Given the description of an element on the screen output the (x, y) to click on. 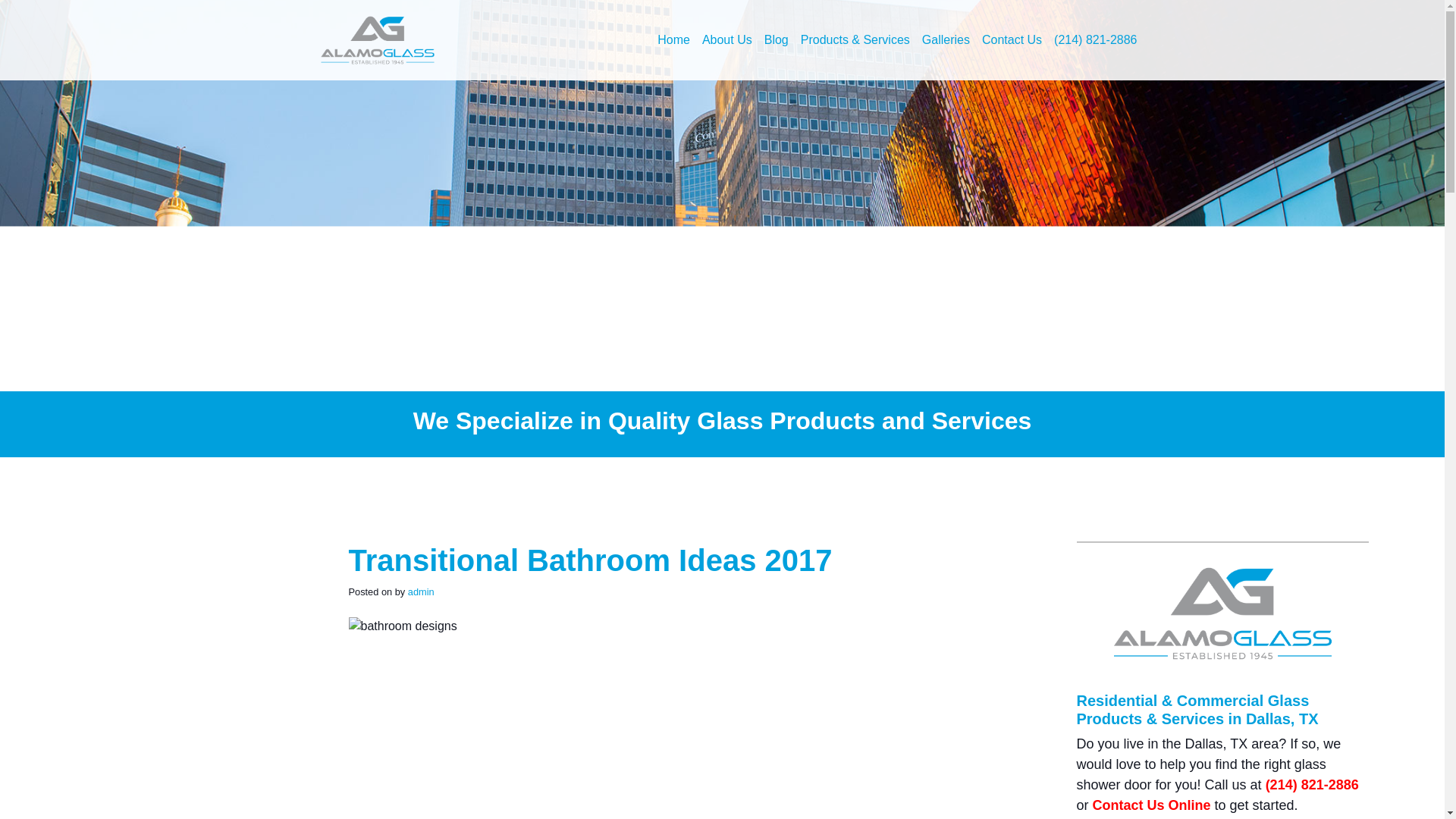
Galleries (945, 40)
About Us (726, 40)
Home (672, 40)
admin (420, 591)
Blog (776, 40)
Contact Us (1011, 40)
